Given the description of an element on the screen output the (x, y) to click on. 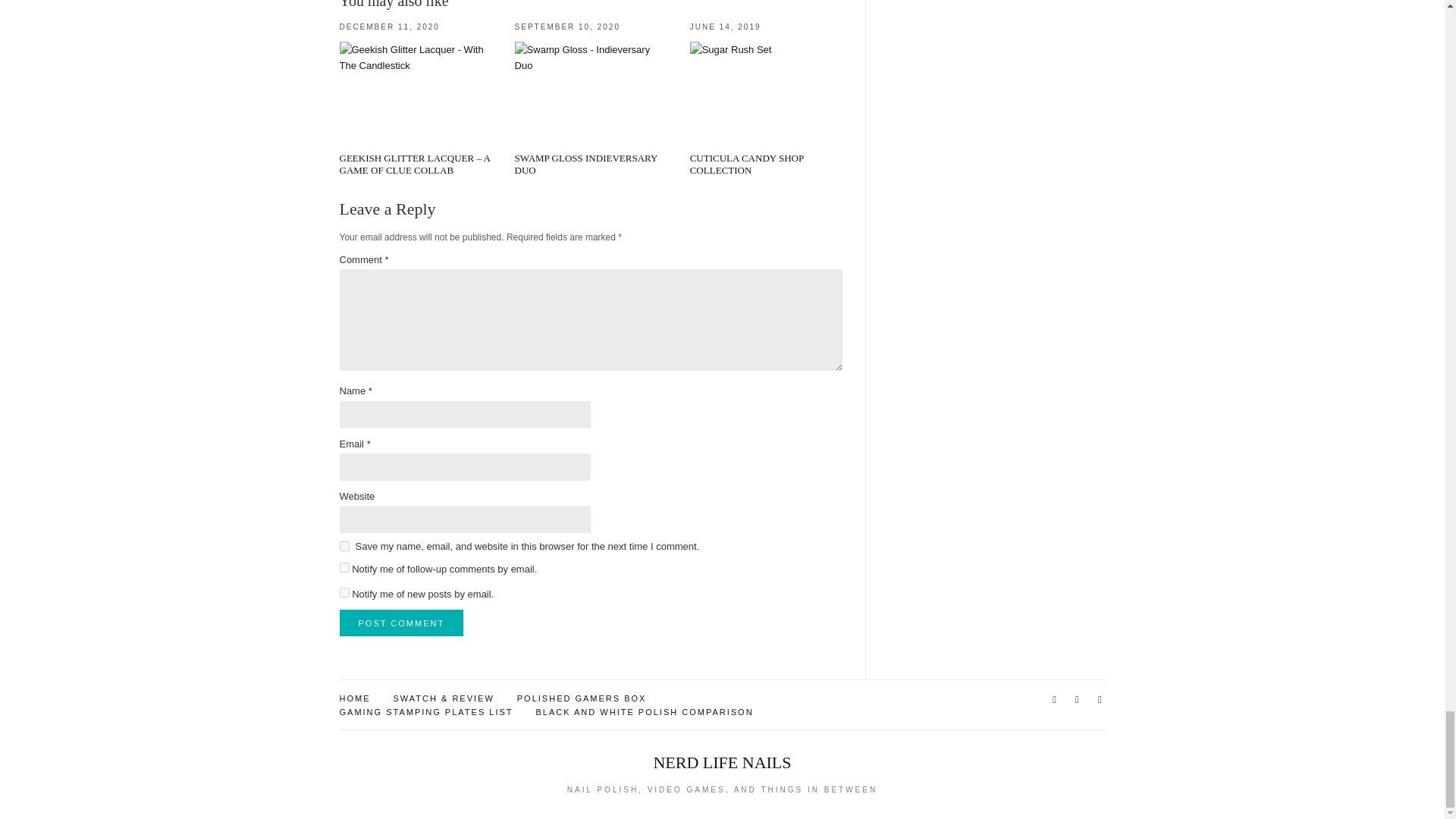
Post Comment (401, 622)
yes (344, 546)
subscribe (344, 592)
subscribe (344, 567)
